Given the description of an element on the screen output the (x, y) to click on. 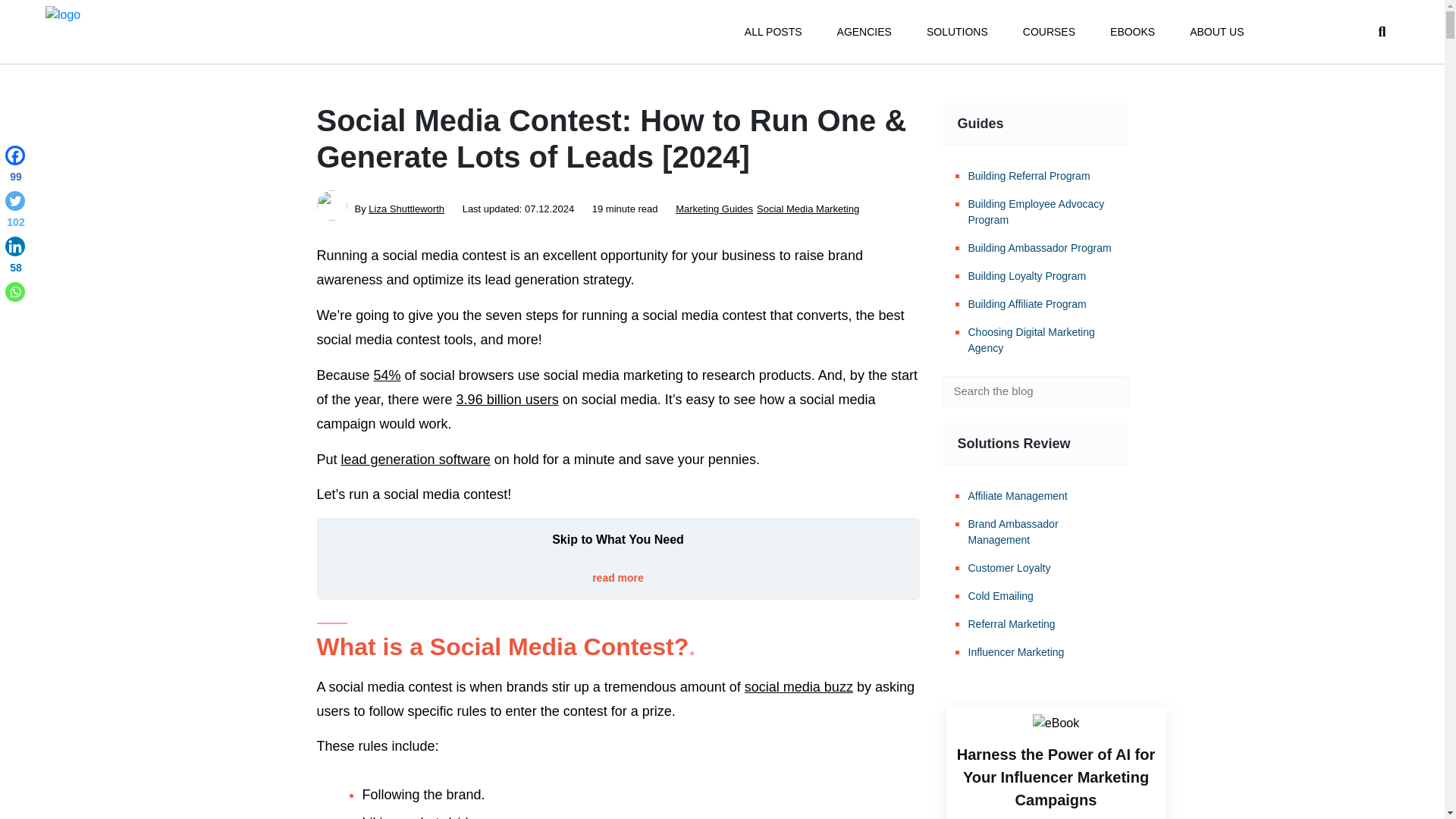
ALL POSTS (772, 31)
Whatsapp (14, 291)
AGENCIES (864, 31)
Search (1105, 391)
SOLUTIONS (957, 31)
Twitter (14, 211)
Facebook (14, 166)
Linkedin (14, 257)
Search (1105, 391)
